Given the description of an element on the screen output the (x, y) to click on. 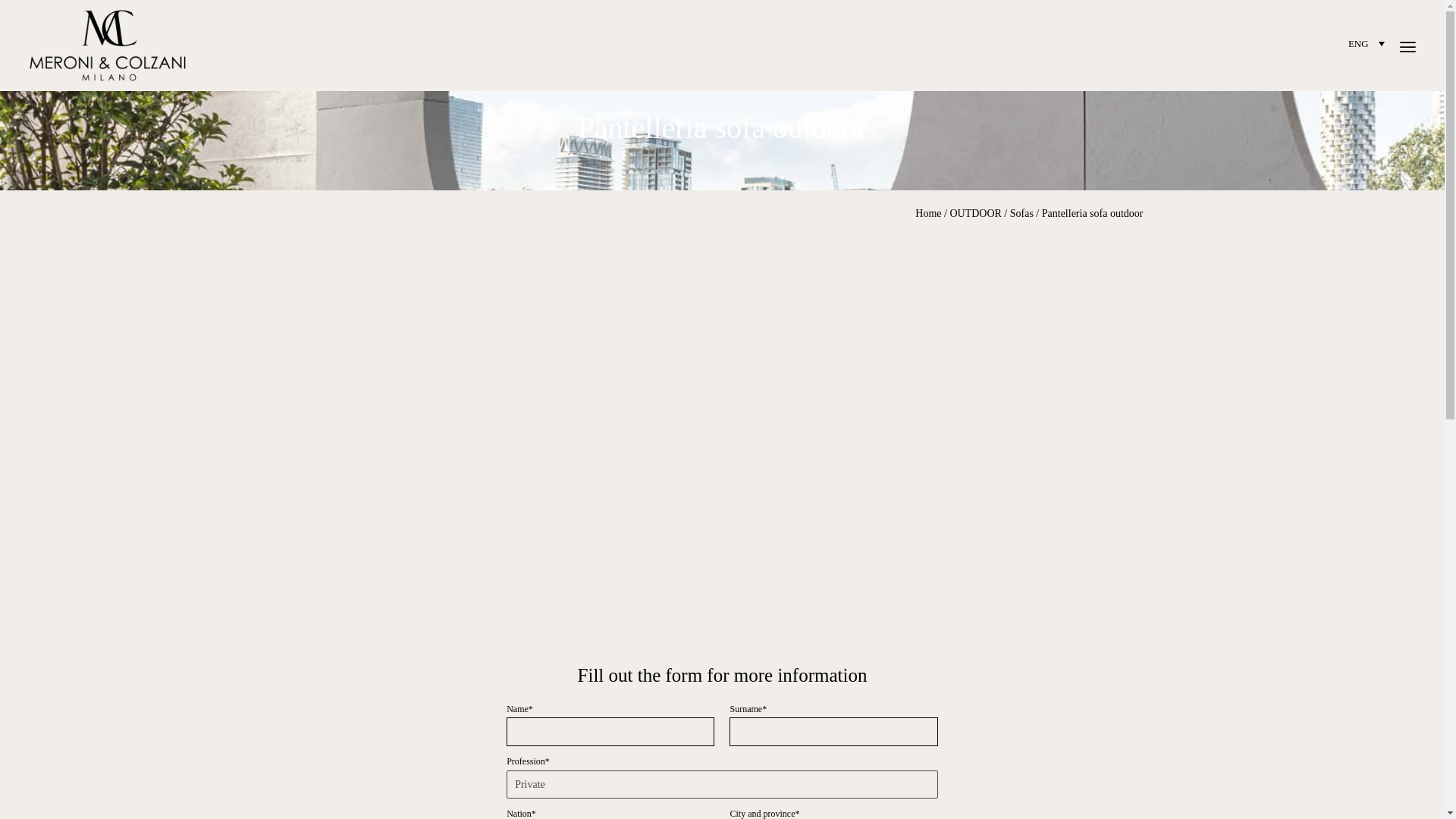
Sofas (1021, 213)
Home (927, 213)
ENG (1368, 43)
OUTDOOR (975, 213)
